Given the description of an element on the screen output the (x, y) to click on. 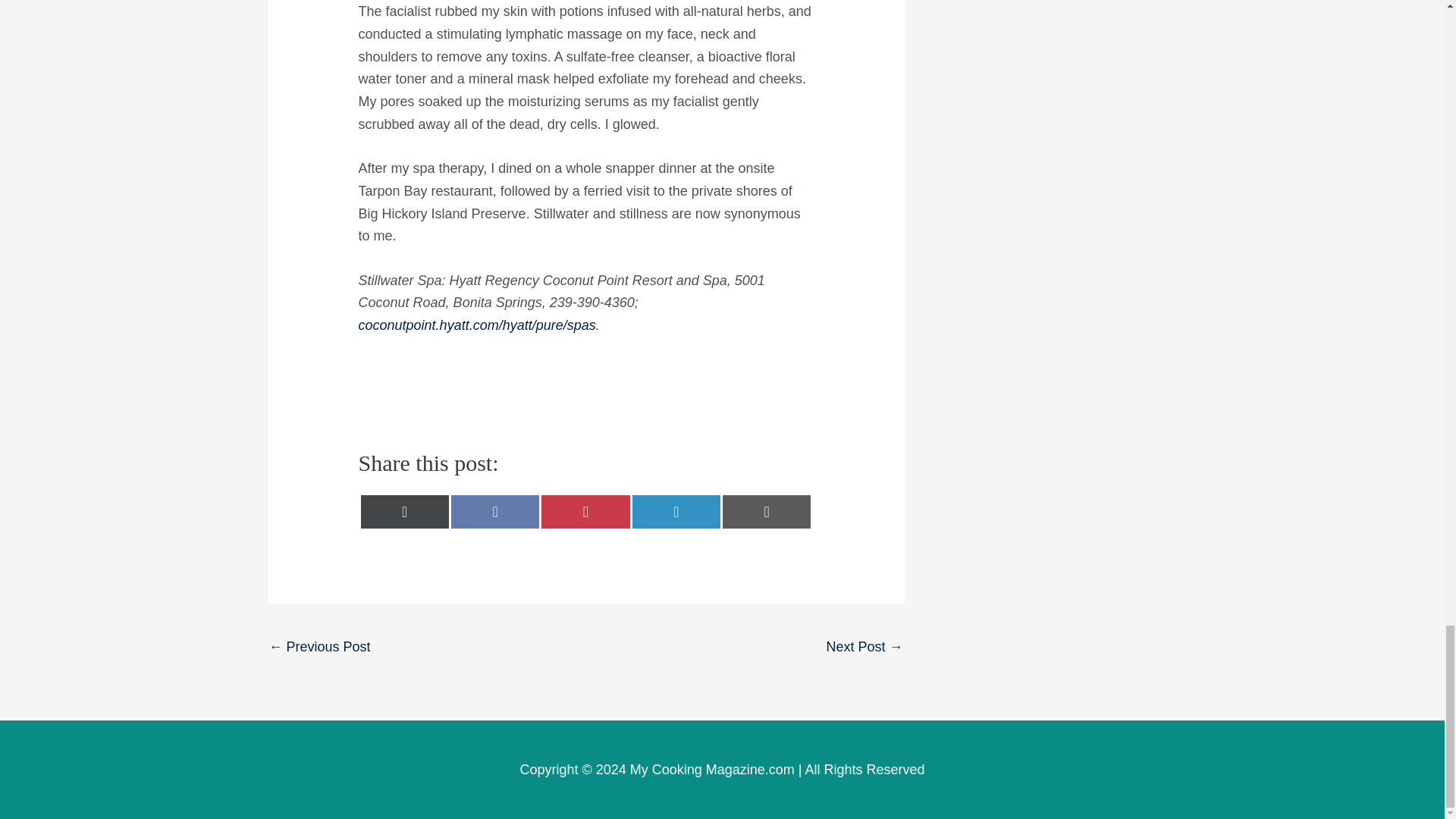
Share on LinkedIn (675, 511)
Share on Facebook (494, 511)
Favorite fall recipes (863, 648)
Share on Email (766, 511)
Fall Spices (318, 648)
Share on Pinterest (584, 511)
